Given the description of an element on the screen output the (x, y) to click on. 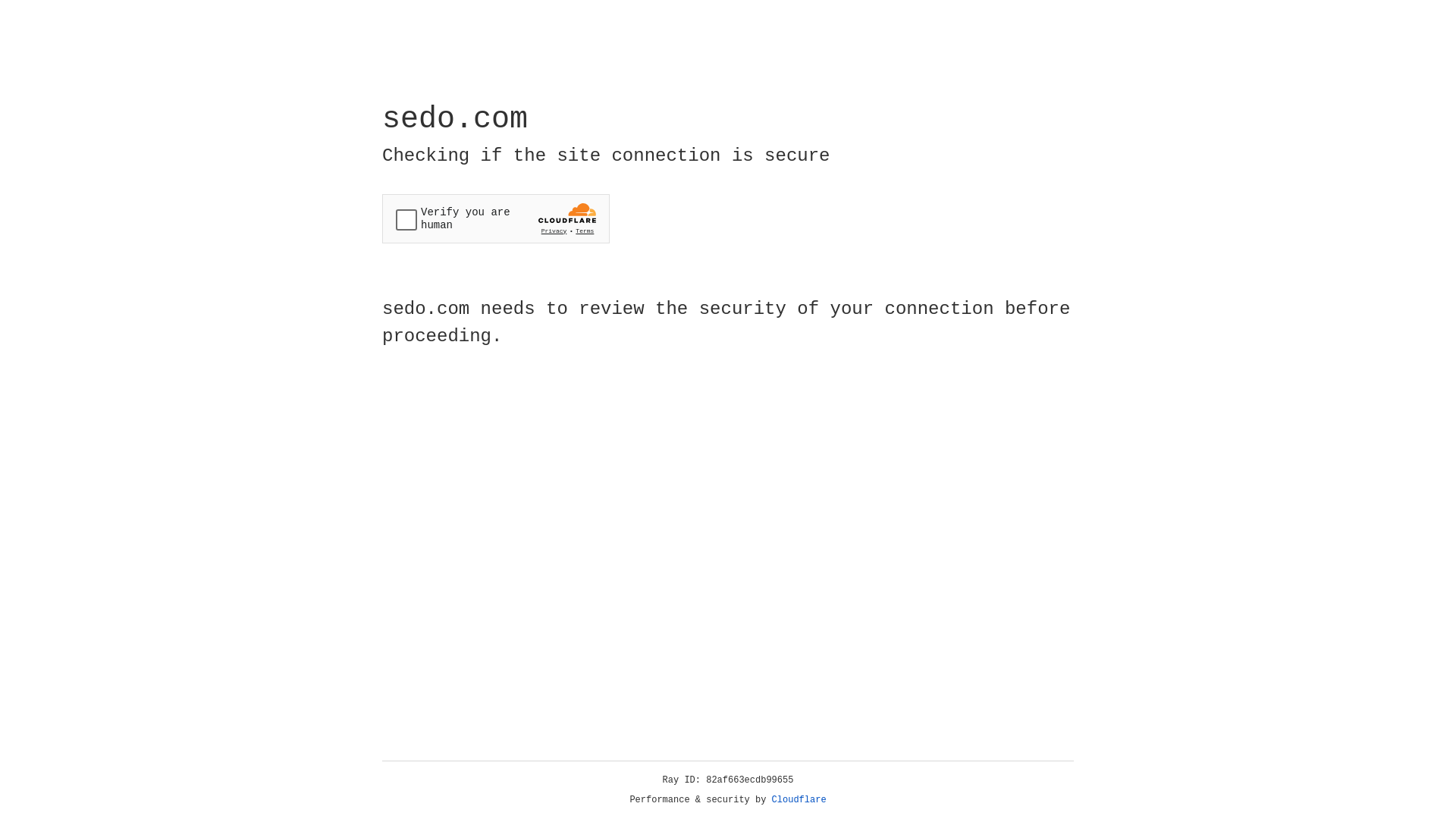
Widget containing a Cloudflare security challenge Element type: hover (495, 218)
Cloudflare Element type: text (798, 799)
